Given the description of an element on the screen output the (x, y) to click on. 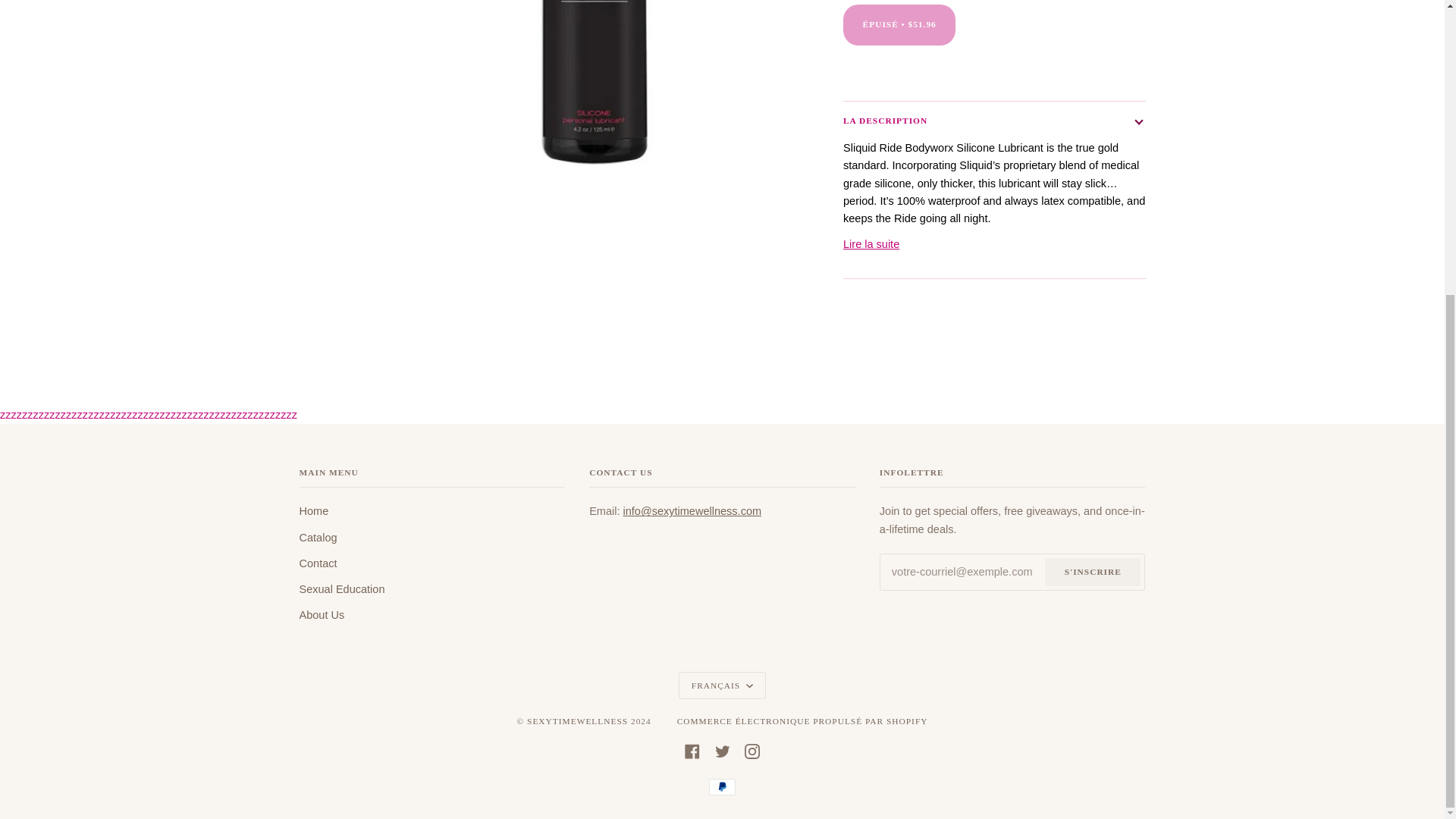
Home (313, 510)
Sexual Education (341, 589)
Instagram (752, 749)
Twitter (721, 749)
Catalog (317, 537)
Contact (317, 563)
LA DESCRIPTION (994, 120)
PAYPAL (722, 786)
Lire la suite (871, 244)
Facebook (692, 749)
